Given the description of an element on the screen output the (x, y) to click on. 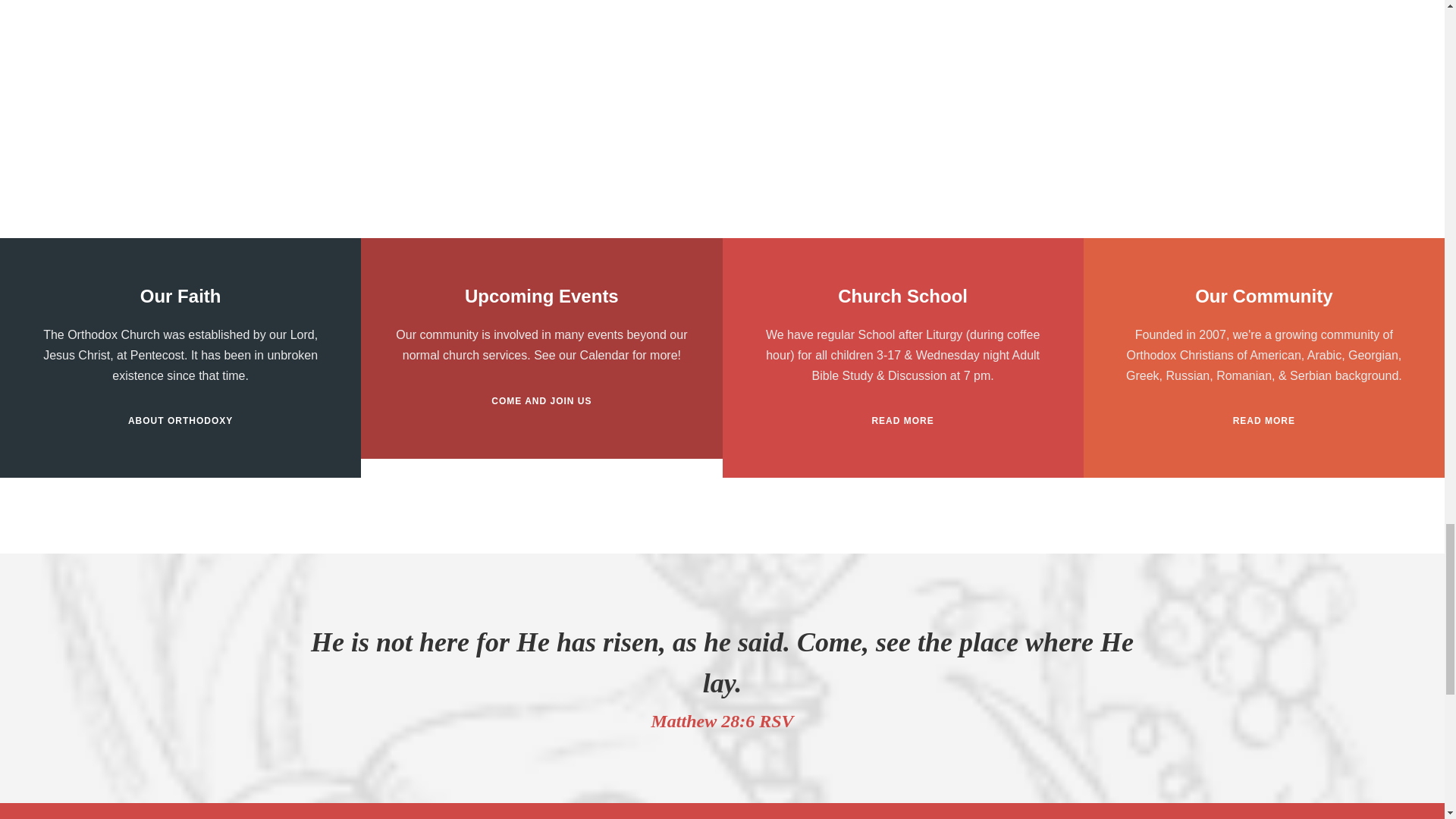
"Come (541, 401)
"Read (901, 421)
"About (180, 421)
"Read (1264, 421)
